Given the description of an element on the screen output the (x, y) to click on. 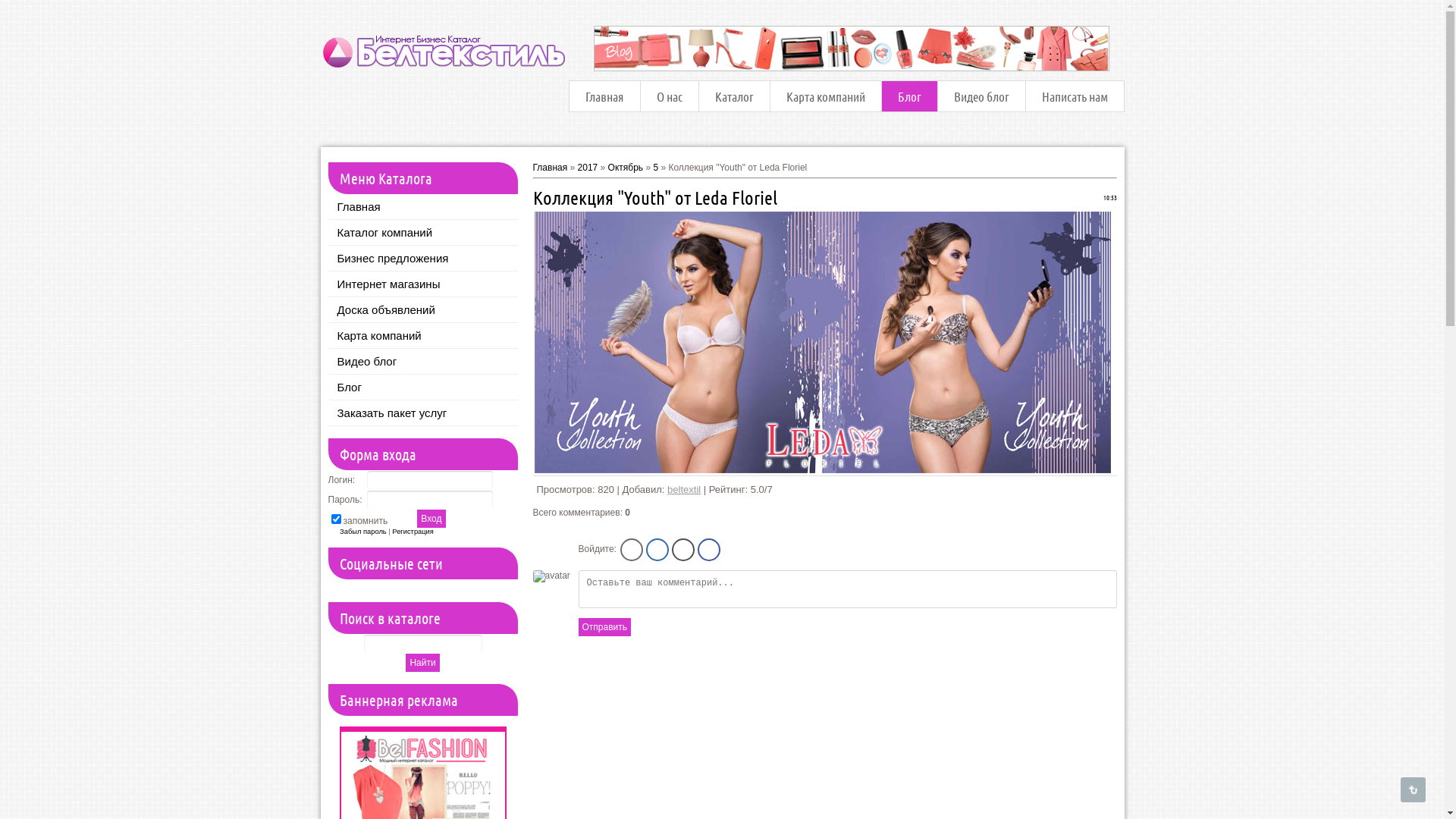
5 Element type: text (655, 167)
5 Element type: text (1105, 490)
3 Element type: text (1074, 490)
beltextil Element type: text (683, 489)
4 Element type: text (1090, 490)
2 Element type: text (1059, 490)
1 Element type: text (1044, 490)
2017 Element type: text (587, 167)
